Given the description of an element on the screen output the (x, y) to click on. 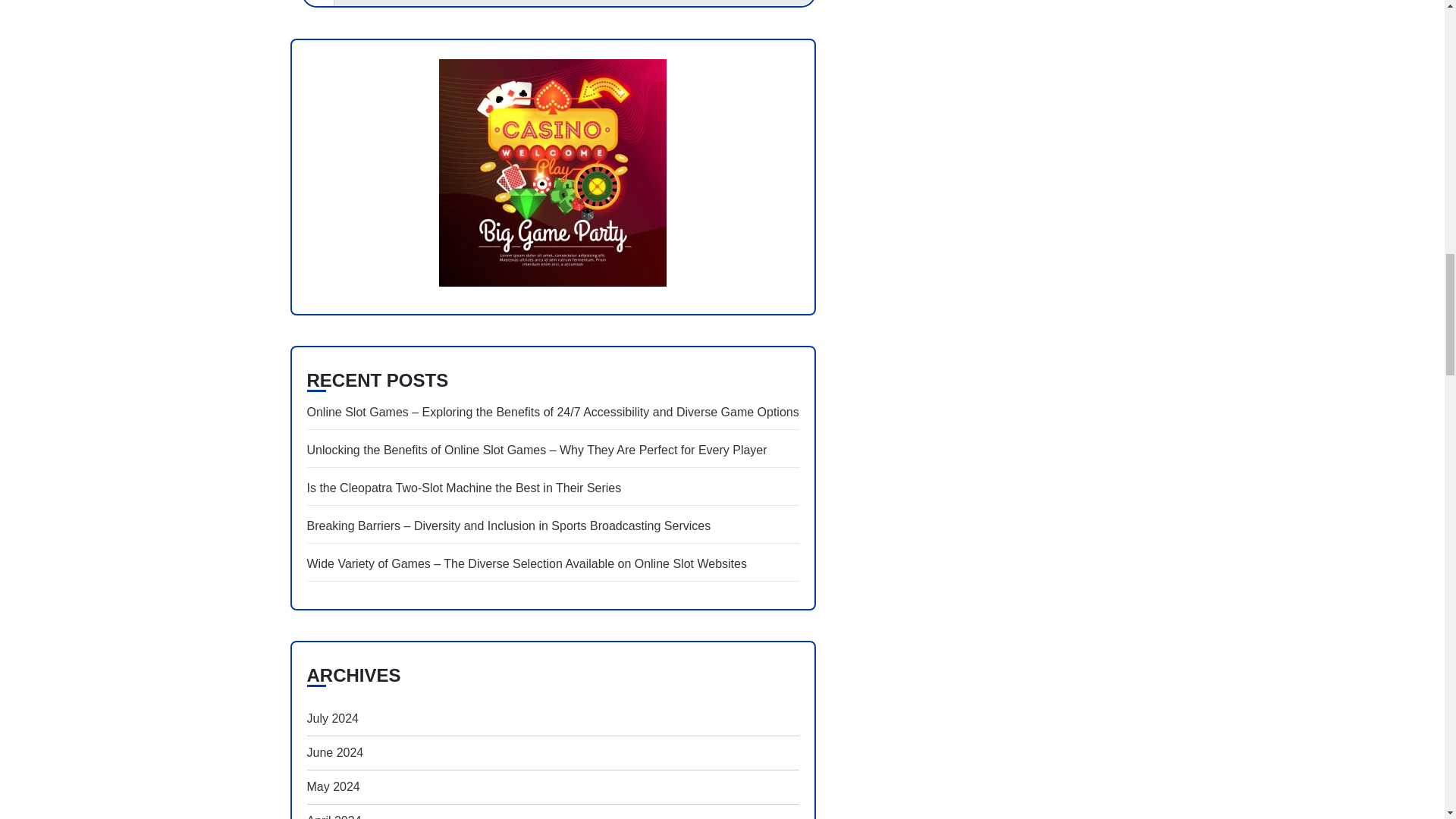
April 2024 (333, 811)
May 2024 (332, 786)
June 2024 (333, 752)
July 2024 (331, 718)
Is the Cleopatra Two-Slot Machine the Best in Their Series (551, 488)
